Given the description of an element on the screen output the (x, y) to click on. 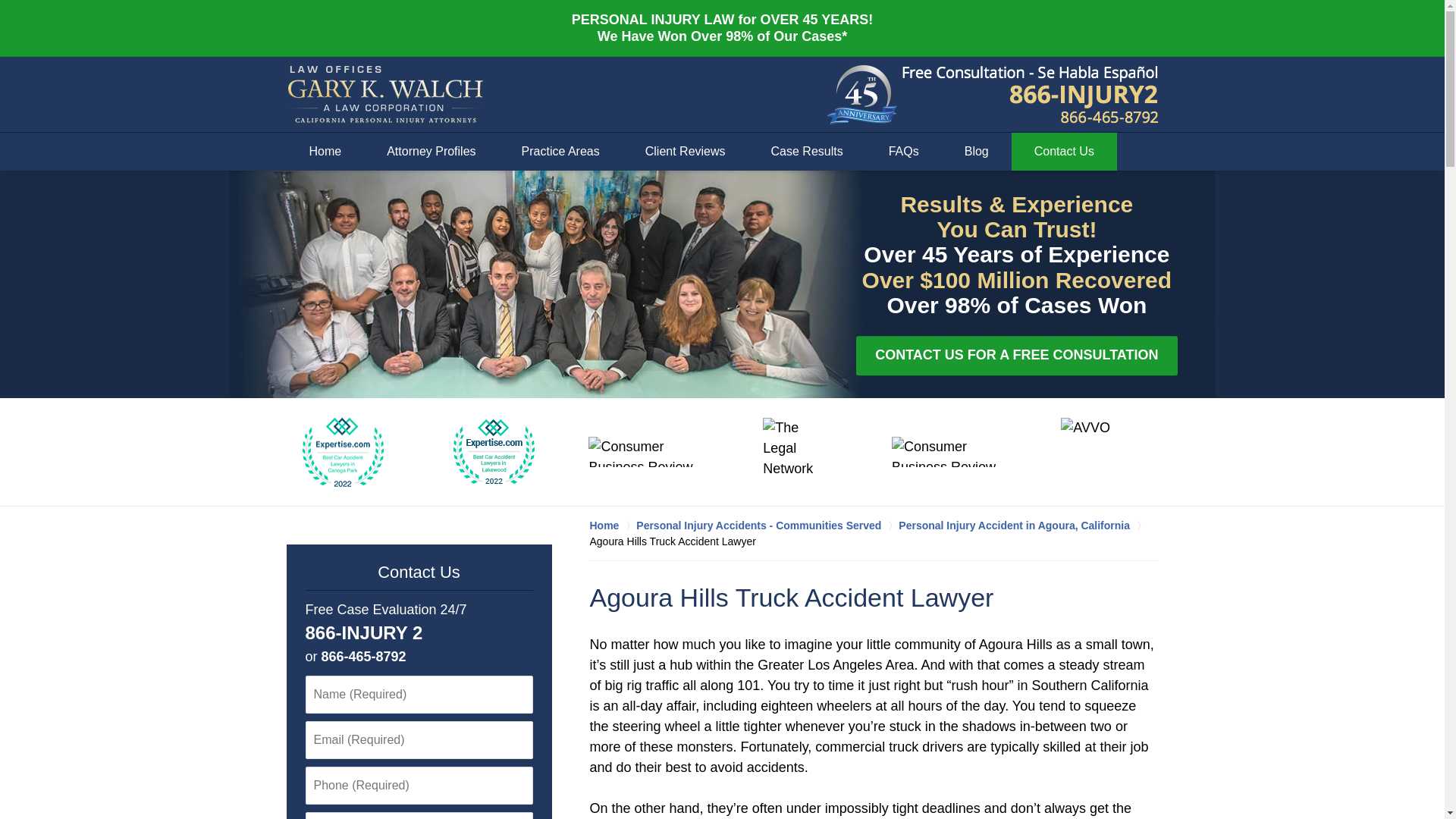
Personal Injury Accidents - Communities Served (767, 524)
Back to Home (384, 94)
Attorney Profiles (430, 151)
Practice Areas (561, 151)
CONTACT US FOR A FREE CONSULTATION (1016, 355)
Client Reviews (685, 151)
Contact Us (418, 571)
Blog (976, 151)
FAQs (904, 151)
Contact Us (1063, 151)
Home (613, 524)
Home (325, 151)
Contact Agoura Hills Truck Accident Lawyers Gary K. Walch (1030, 94)
Case Results (807, 151)
